Given the description of an element on the screen output the (x, y) to click on. 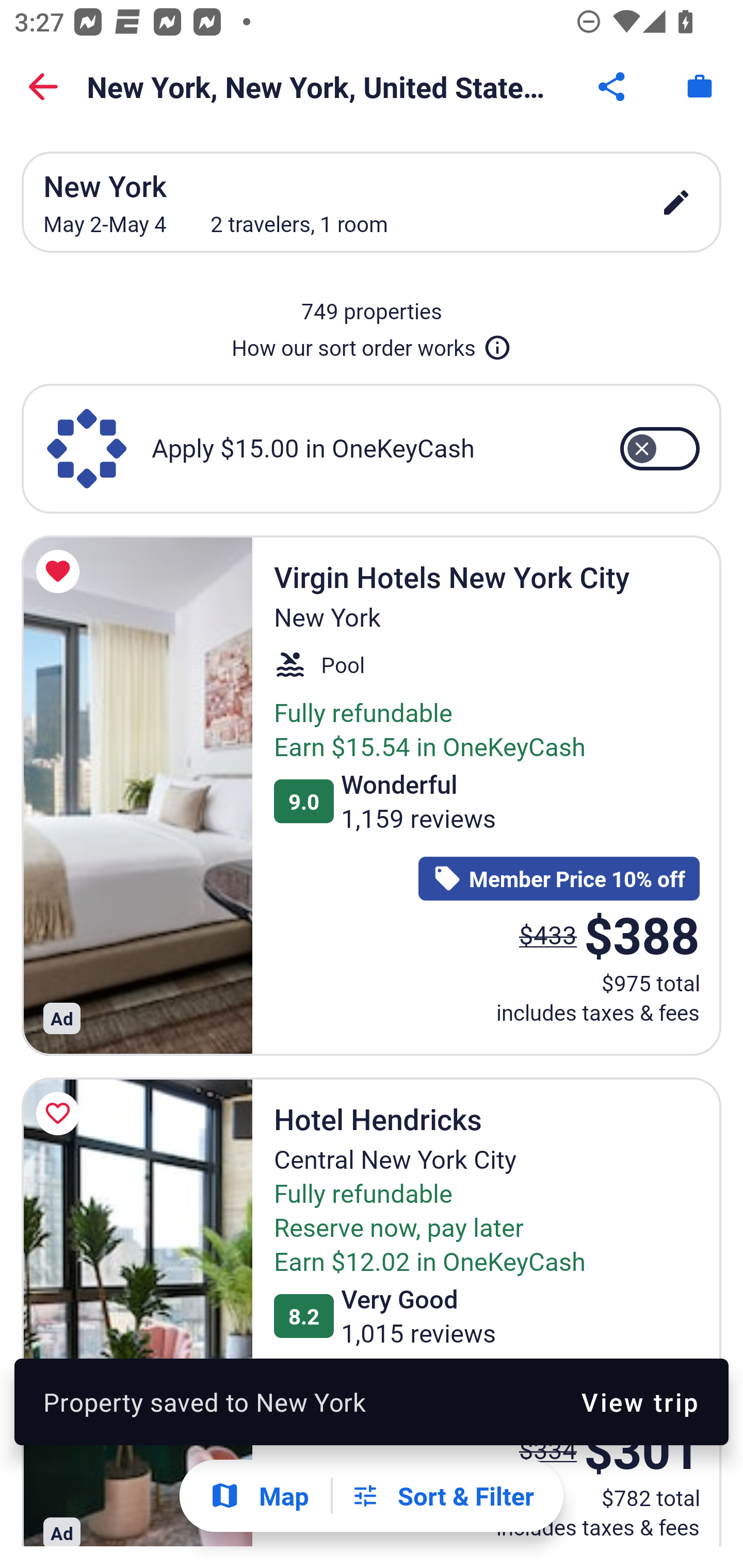
Back (43, 86)
Share Button (612, 86)
Trips. Button (699, 86)
New York May 2-May 4 2 travelers, 1 room edit (371, 202)
How our sort order works (371, 344)
Remove Virgin Hotels New York City from a trip (61, 571)
Virgin Hotels New York City (136, 794)
$433 The price was $433 (547, 934)
Save Hotel Hendricks to a trip (61, 1113)
Hotel Hendricks (136, 1311)
View trip (640, 1401)
Filters Sort & Filter Filters Button (442, 1495)
Show map Map Show map Button (258, 1495)
